Given the description of an element on the screen output the (x, y) to click on. 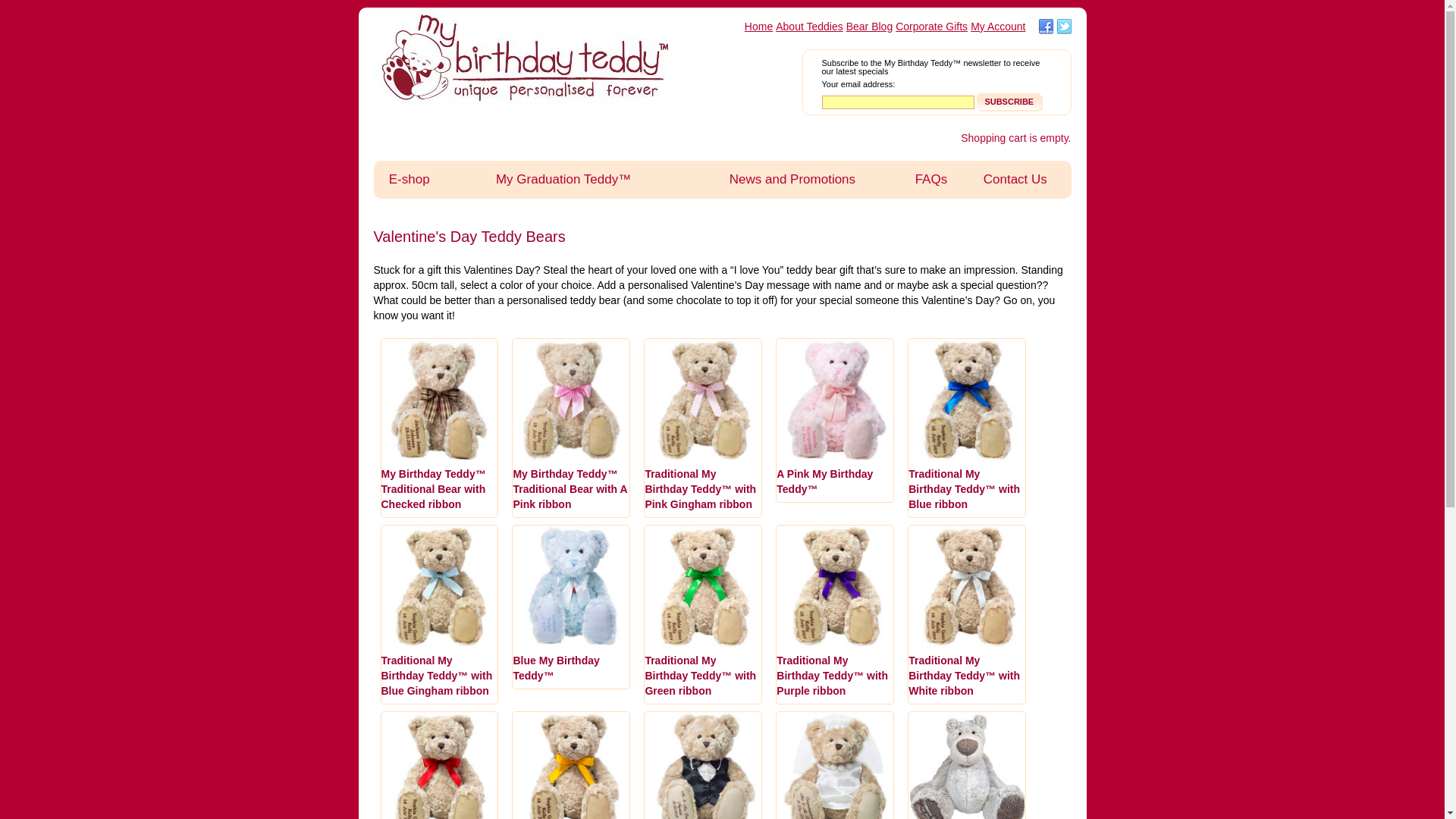
Facebook Element type: text (1045, 26)
News and Promotions Element type: text (791, 179)
Bear Blog Element type: text (869, 26)
Contact Us Element type: text (1014, 179)
Home Element type: text (758, 26)
FAQs Element type: text (931, 179)
E-shop Element type: text (408, 179)
My Account Element type: text (997, 26)
Corporate Gifts Element type: text (931, 26)
Twitter Element type: text (1064, 26)
Subscribe Element type: text (1008, 101)
About Teddies Element type: text (809, 26)
